Given the description of an element on the screen output the (x, y) to click on. 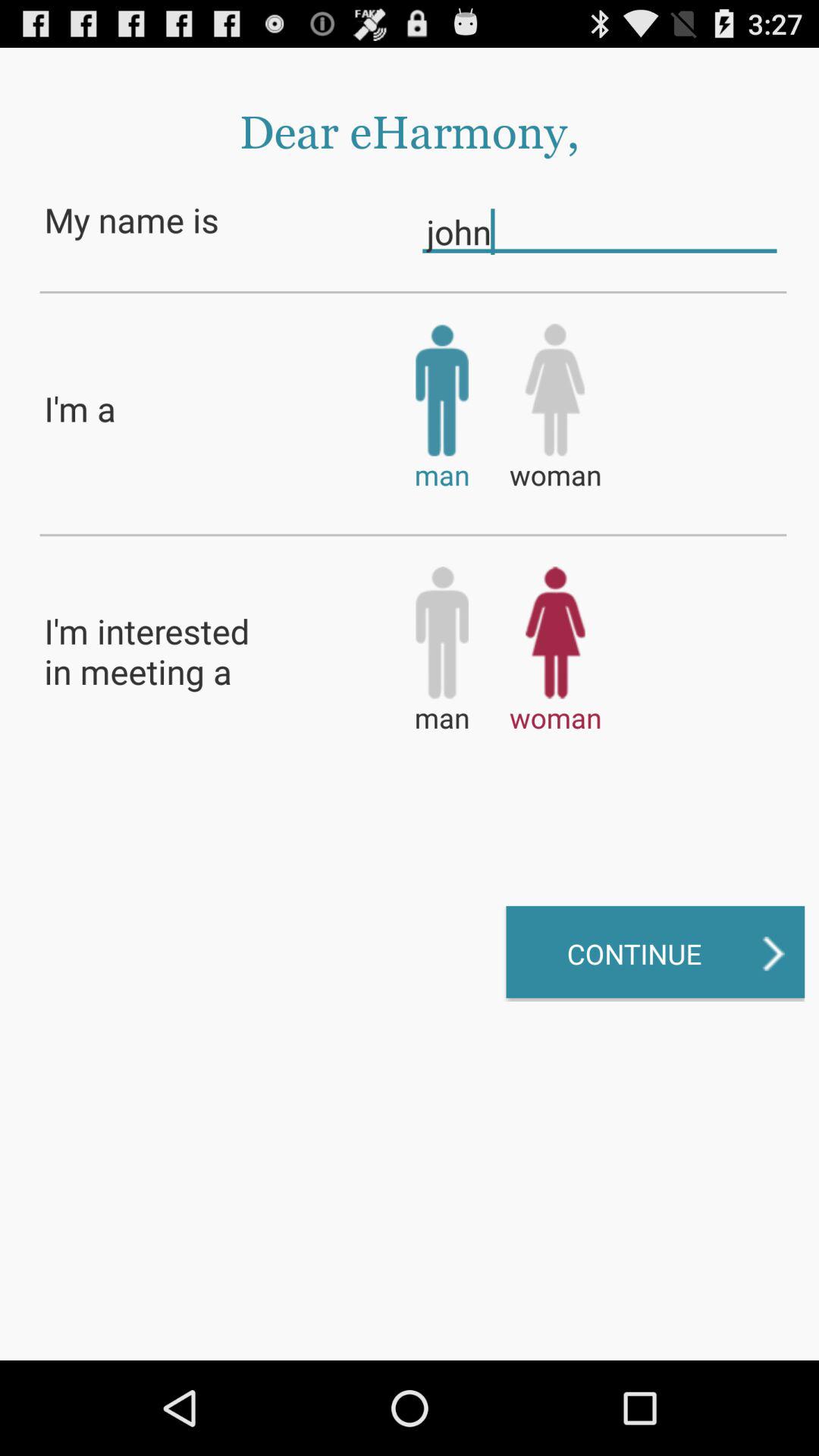
click icon next to my name is icon (599, 231)
